Given the description of an element on the screen output the (x, y) to click on. 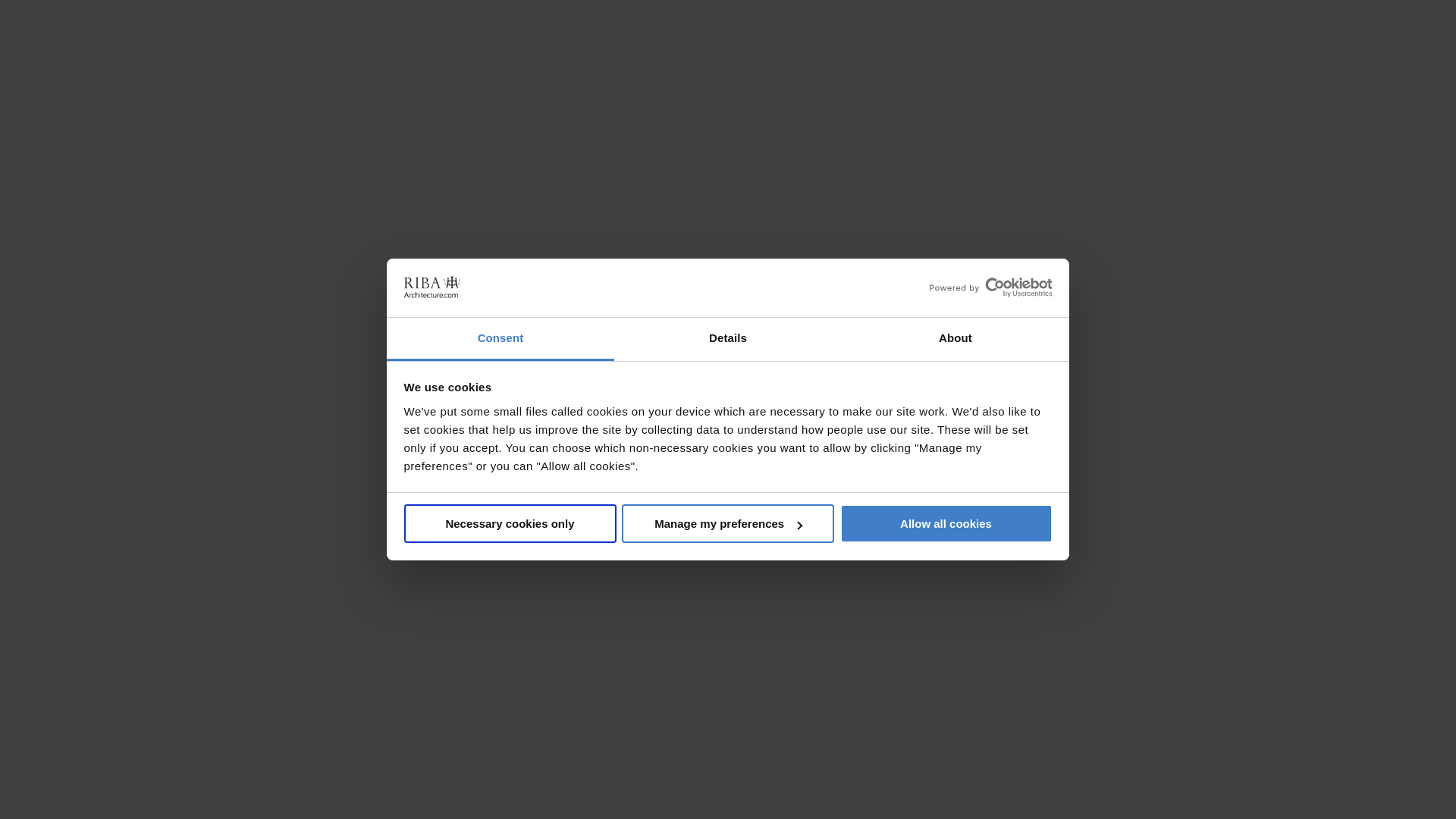
Commerce (757, 185)
Grid (844, 309)
Allow all cookies (946, 523)
Details (727, 339)
Manage my preferences (727, 523)
Necessary cookies only (509, 523)
Consent (500, 339)
List (879, 309)
Search (1272, 69)
Home (605, 185)
Search (1272, 69)
Subject Search (676, 185)
About (954, 339)
